Given the description of an element on the screen output the (x, y) to click on. 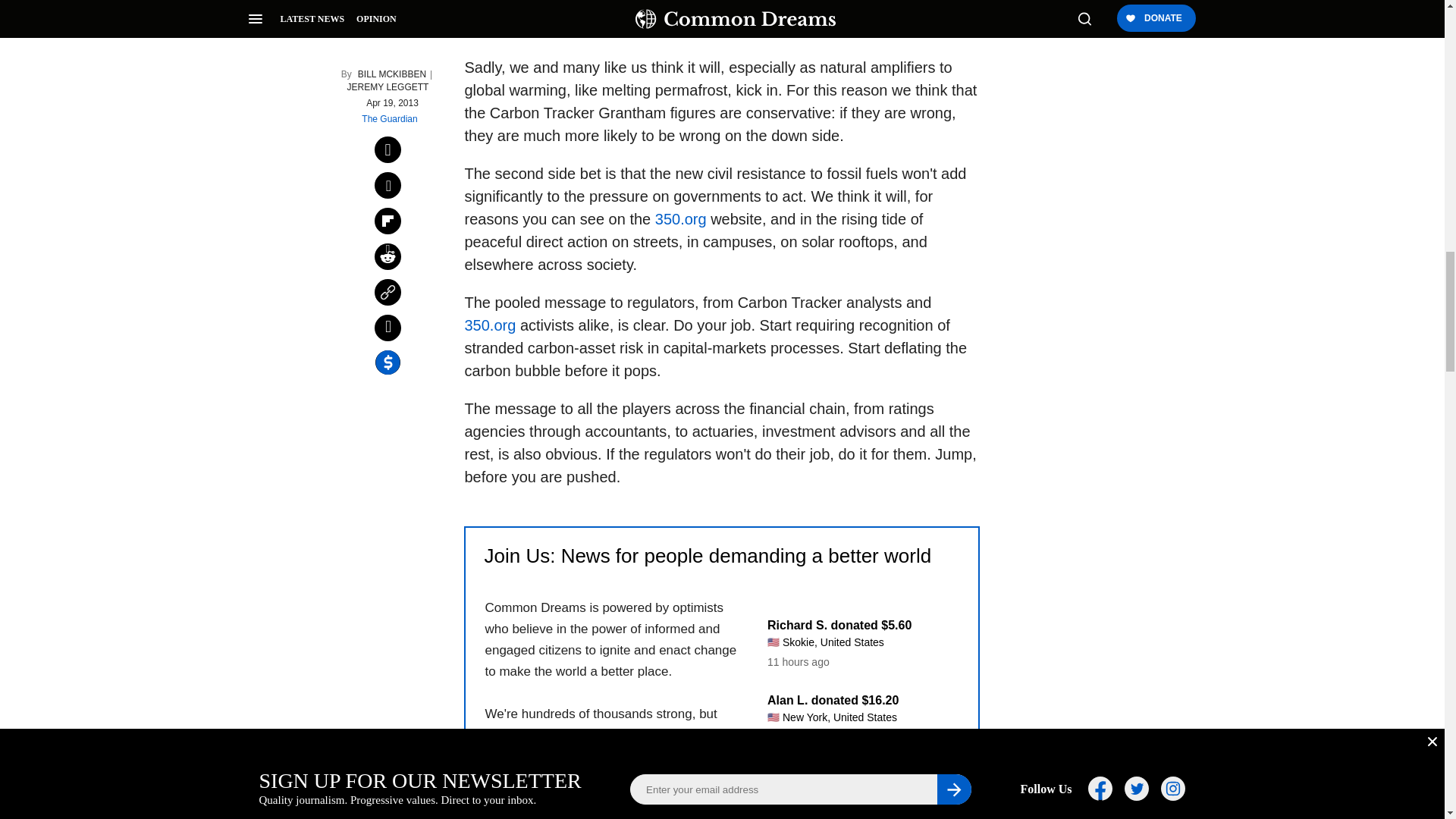
Recent Donations (852, 703)
